Given the description of an element on the screen output the (x, y) to click on. 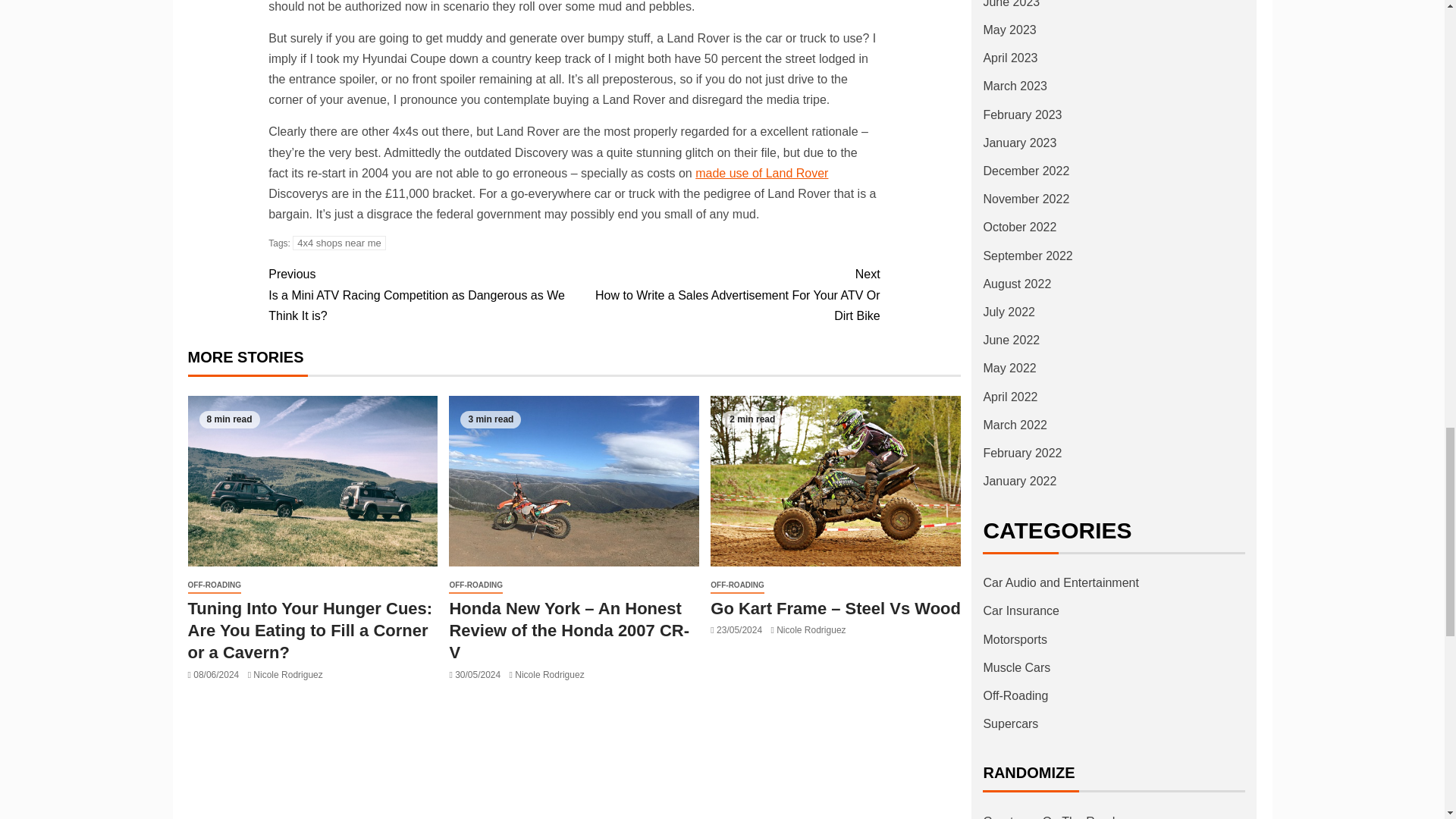
OFF-ROADING (214, 585)
Nicole Rodriguez (287, 674)
OFF-ROADING (475, 585)
4x4 shops near me (338, 242)
made use of Land Rover (761, 173)
